Given the description of an element on the screen output the (x, y) to click on. 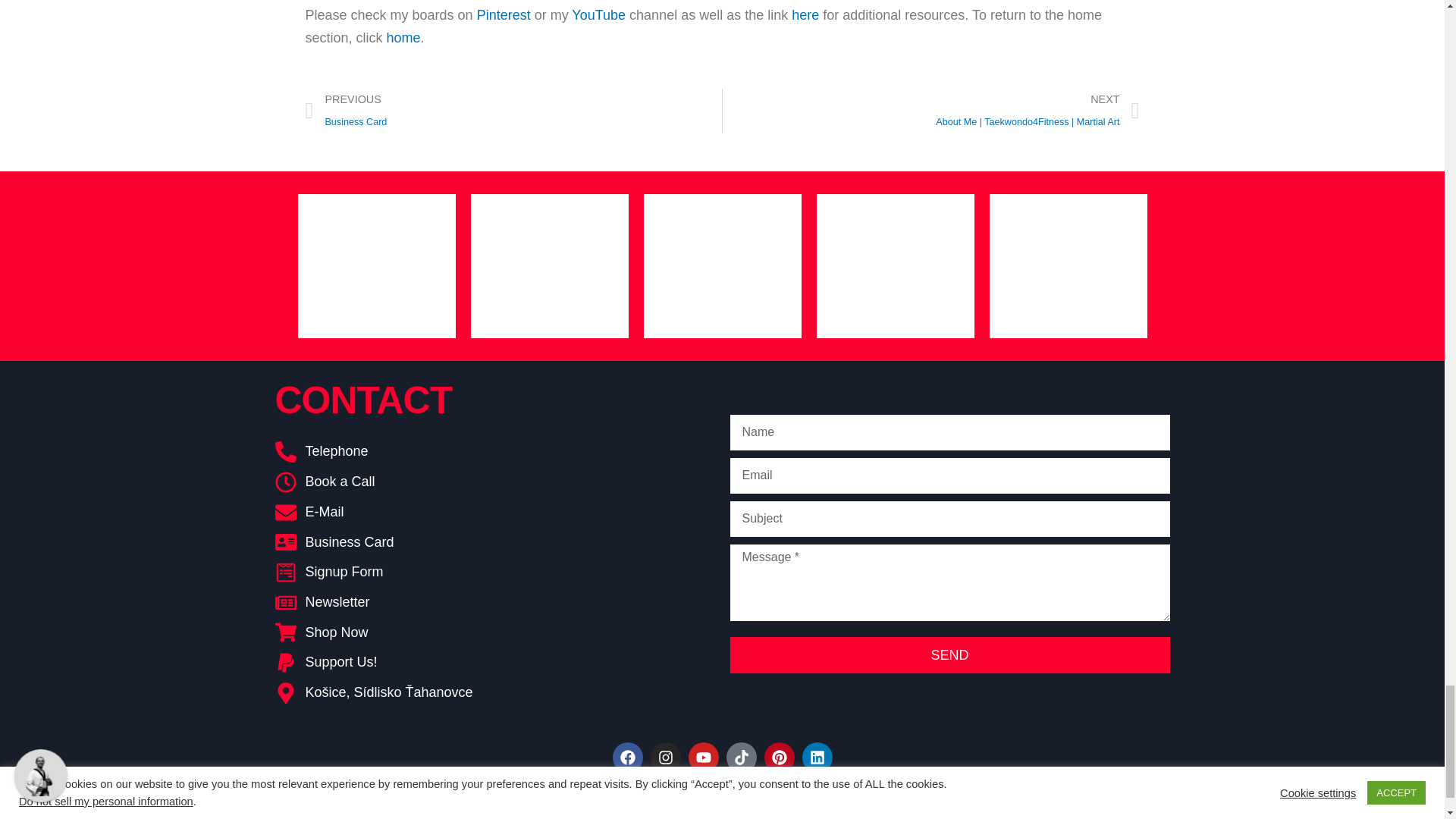
Privacy Policy (596, 806)
here (805, 14)
Affiliate Disclosure (834, 806)
